Given the description of an element on the screen output the (x, y) to click on. 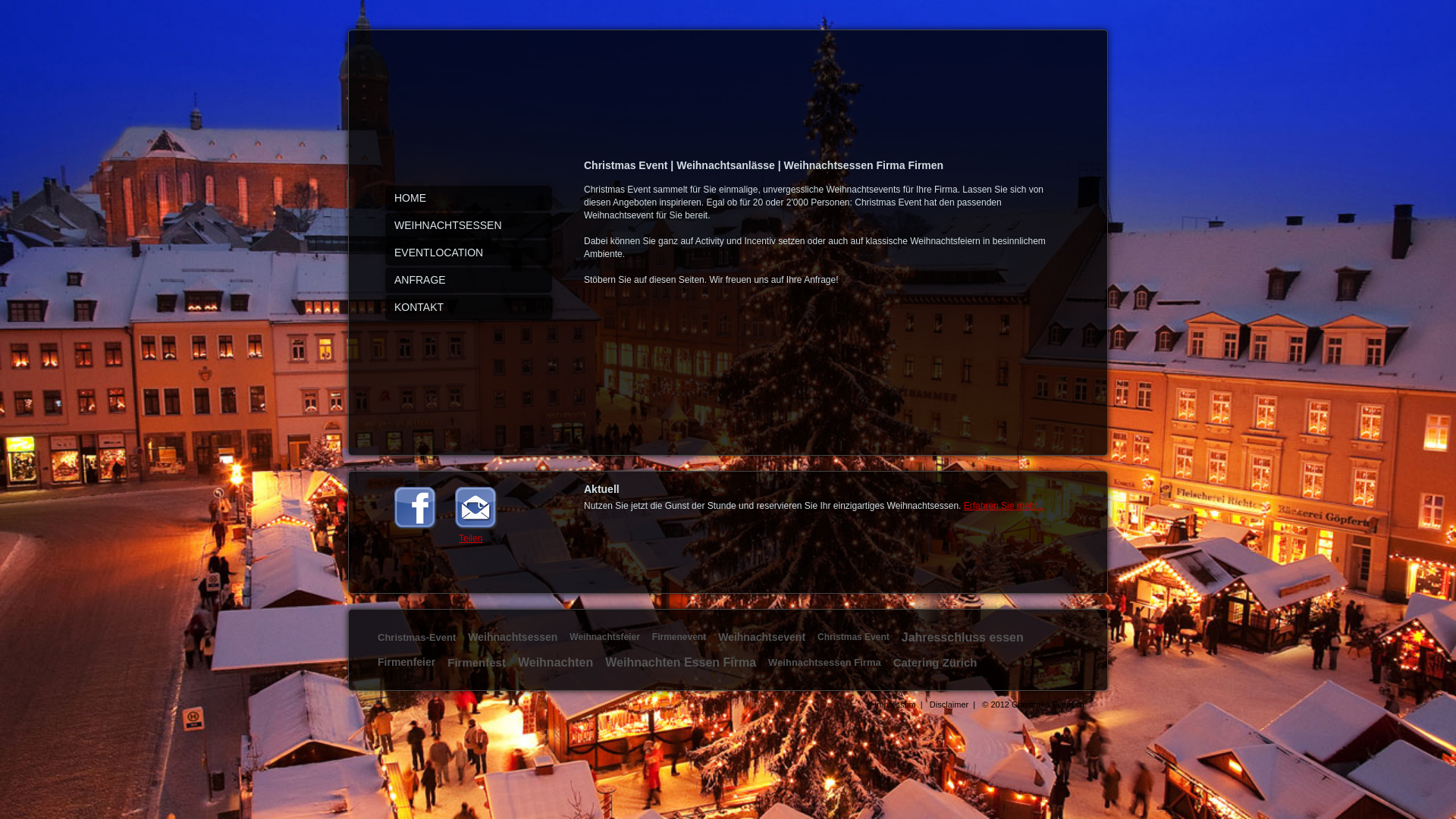
HOME Element type: text (468, 197)
Christmas-Event Element type: text (416, 637)
Firmenevent Element type: text (679, 636)
Christmas-Event.ch Element type: text (1047, 704)
Weihnachten Essen Firma Element type: text (680, 661)
Jahresschluss essen Element type: text (962, 636)
Impressum Element type: text (894, 704)
ANFRAGE Element type: text (468, 279)
Firmenfest Element type: text (476, 661)
Disclaimer Element type: text (948, 704)
Weihnachten Element type: text (555, 661)
Christmas Event Element type: text (853, 636)
EVENTLOCATION Element type: text (468, 252)
KONTAKT Element type: text (468, 307)
Weihnachtsessen Firma Element type: text (824, 662)
Weihnachtsevent Element type: text (761, 636)
Erfahren Sie mehr... Element type: text (1003, 505)
WEIHNACHTSESSEN Element type: text (468, 225)
Firmenfeier Element type: text (406, 661)
Weihnachtsfeier Element type: text (604, 636)
Teilen Element type: text (470, 538)
Weihnachtsessen Element type: text (512, 636)
